Given the description of an element on the screen output the (x, y) to click on. 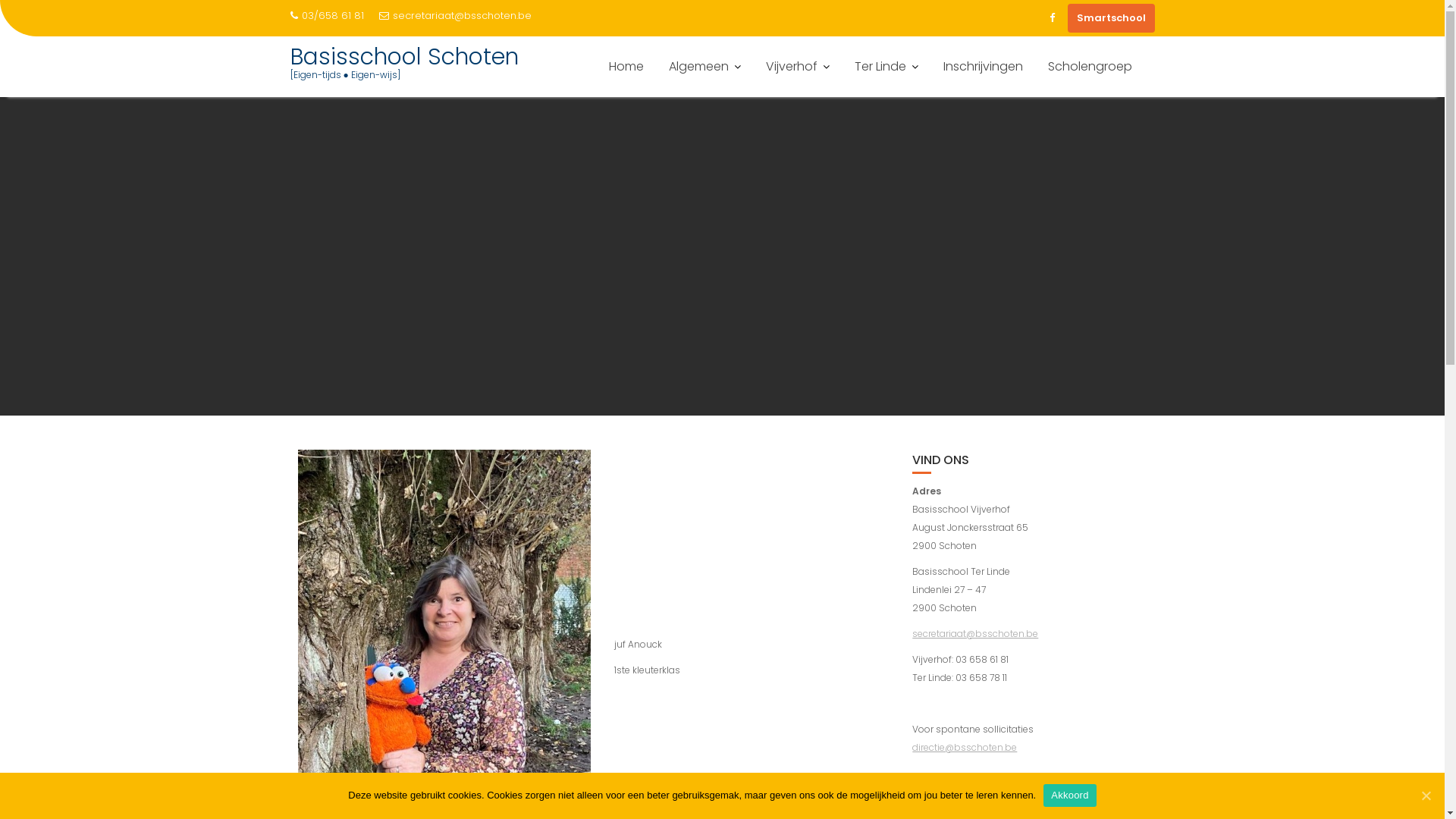
Akkoord Element type: text (1069, 795)
Inschrijvingen Element type: text (982, 66)
secretariaat@bsschoten.be Element type: text (975, 633)
Vijverhof Element type: text (796, 66)
Scholengroep Element type: text (1088, 66)
Smartschool Element type: text (1110, 17)
Home Element type: text (626, 66)
secretariaat@bsschoten.be Element type: text (455, 15)
directie@bsschoten.be Element type: text (964, 746)
Algemeen Element type: text (703, 66)
Facebook Element type: hover (1052, 18)
Basisschool Schoten Element type: text (403, 56)
Ter Linde Element type: text (886, 66)
